Given the description of an element on the screen output the (x, y) to click on. 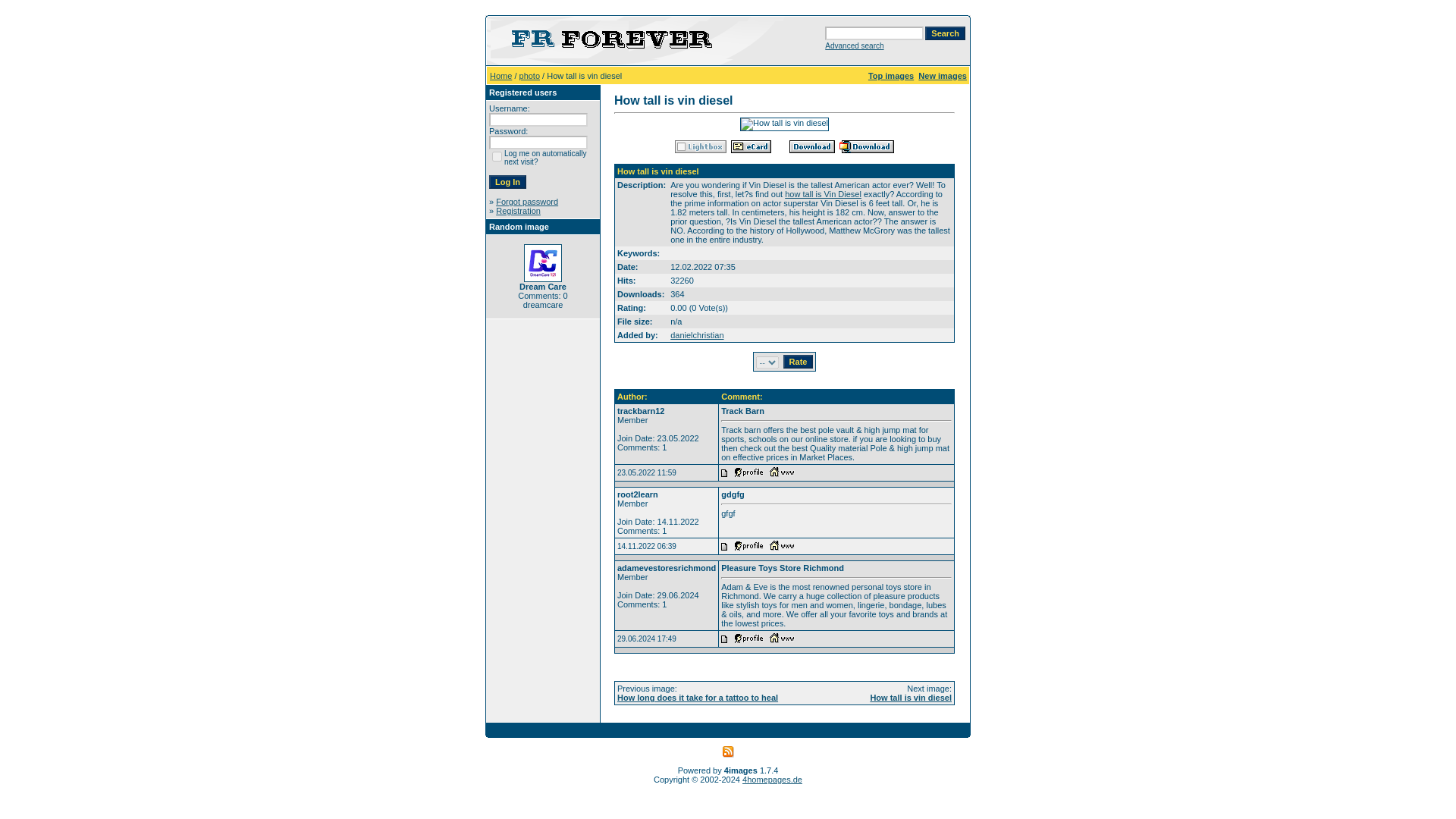
danielchristian (696, 334)
Registration (518, 210)
Rate (798, 361)
How long does it take for a tattoo to heal (697, 696)
Search (944, 33)
Search (944, 33)
4homepages.de (772, 778)
photo (529, 75)
1 (497, 156)
Forgot password (526, 201)
